Given the description of an element on the screen output the (x, y) to click on. 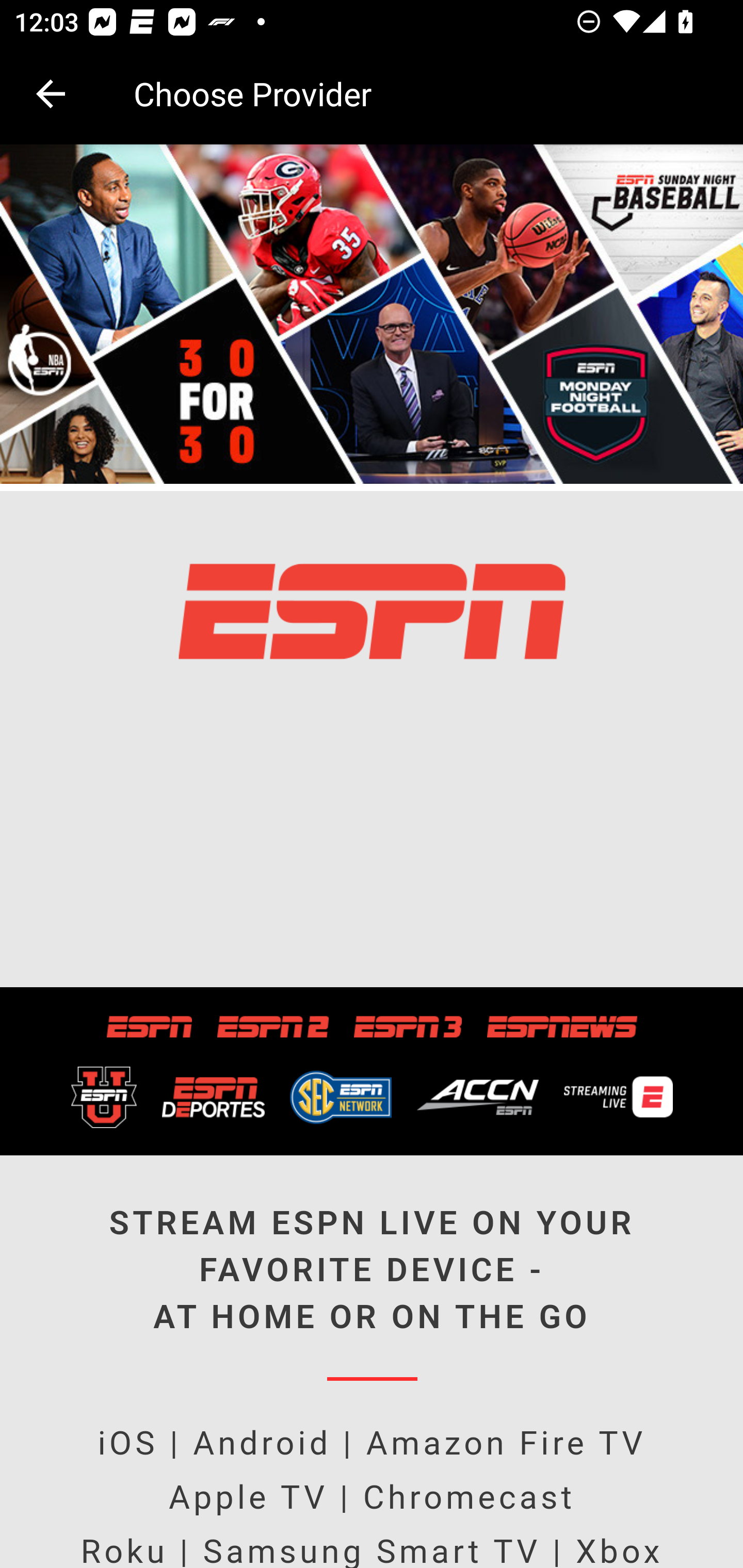
Navigate up (50, 93)
